Given the description of an element on the screen output the (x, y) to click on. 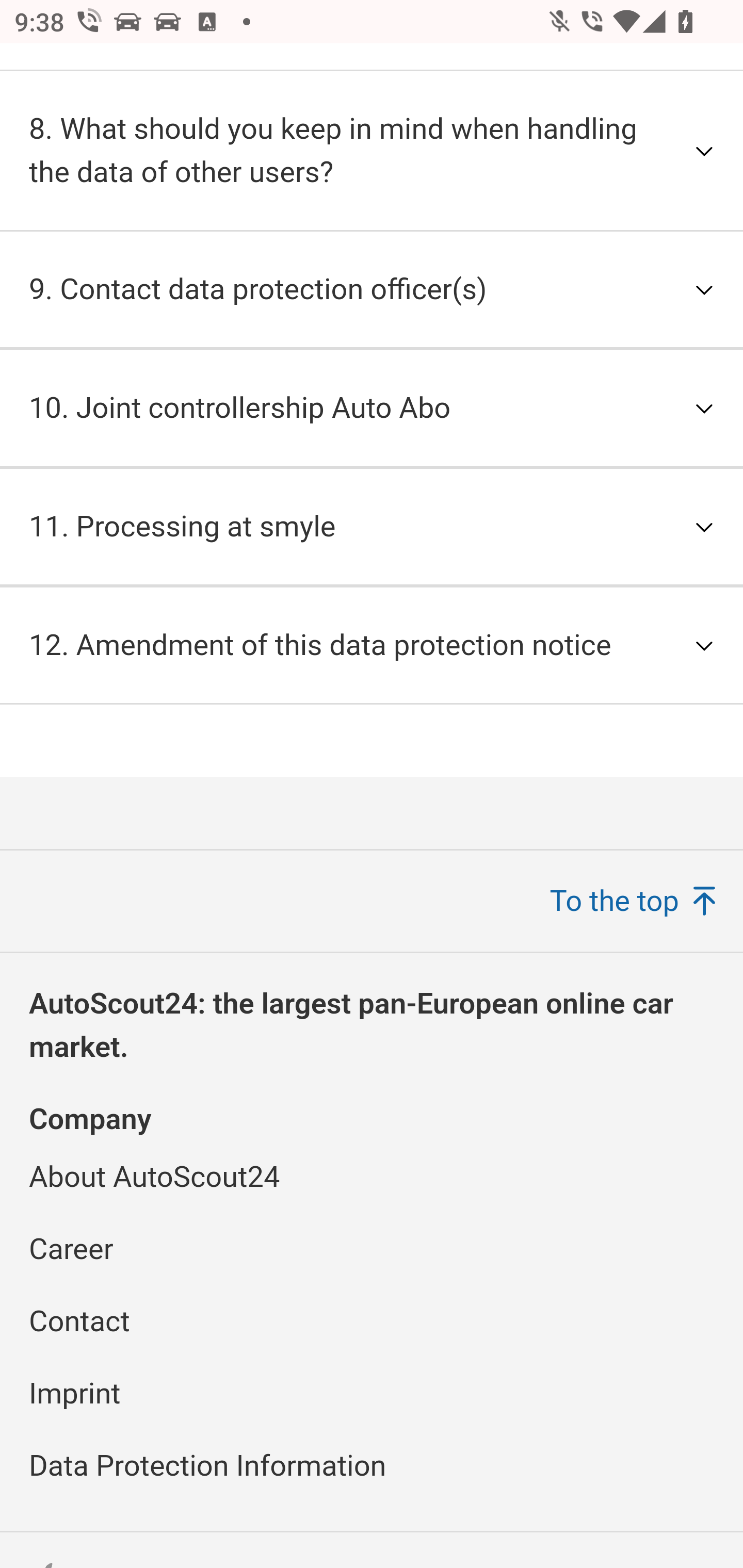
To the top (632, 901)
About AutoScout24 (154, 1176)
Career (70, 1248)
Contact (79, 1321)
Imprint (74, 1393)
Data Protection Information (207, 1465)
